Given the description of an element on the screen output the (x, y) to click on. 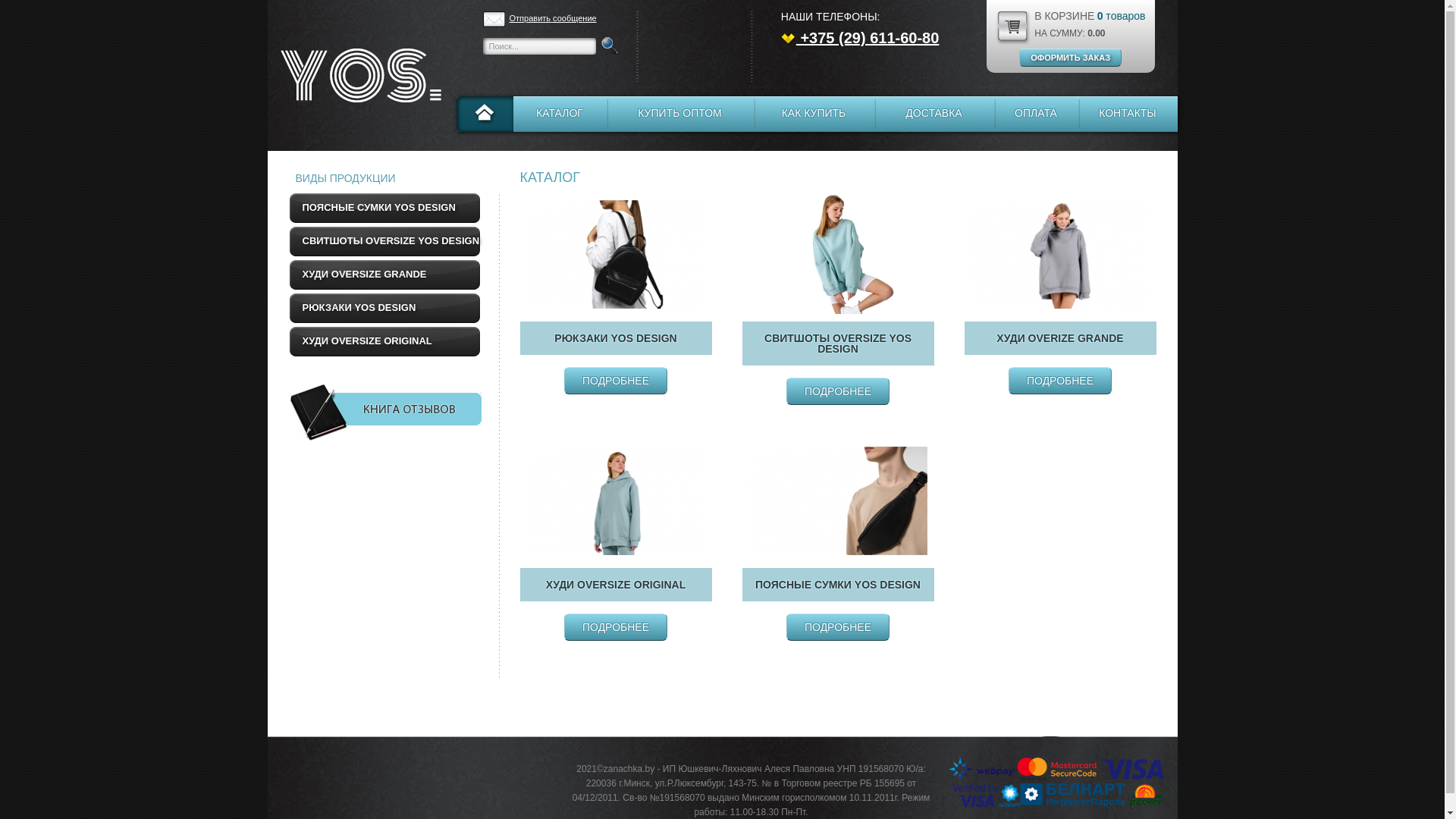
LiveInternet Element type: hover (305, 778)
+375 (29) 611-60-80 Element type: text (859, 37)
zanachka.by Element type: text (357, 75)
zanachka.by Element type: text (1122, 781)
